Given the description of an element on the screen output the (x, y) to click on. 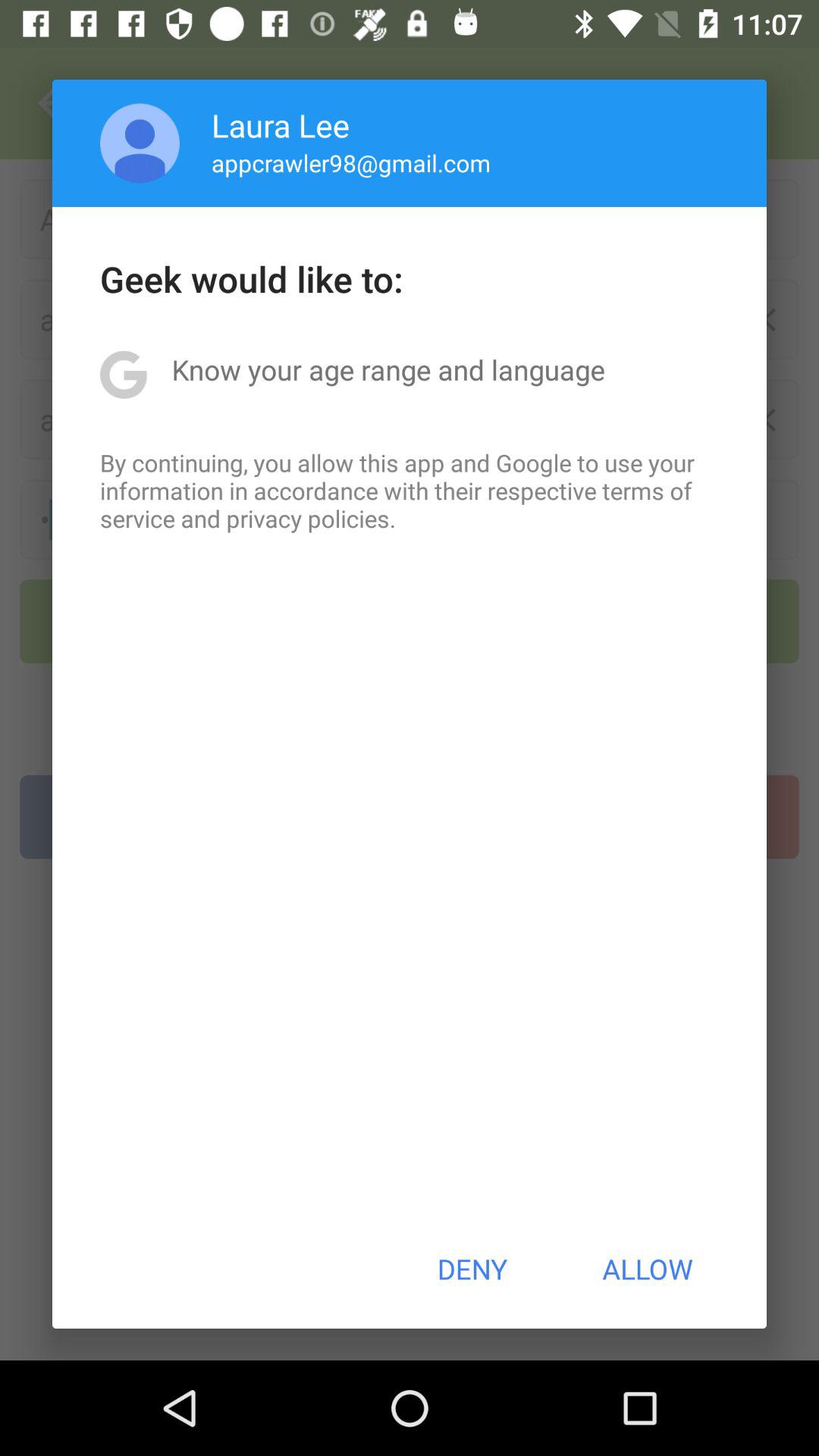
open appcrawler98@gmail.com icon (350, 162)
